Given the description of an element on the screen output the (x, y) to click on. 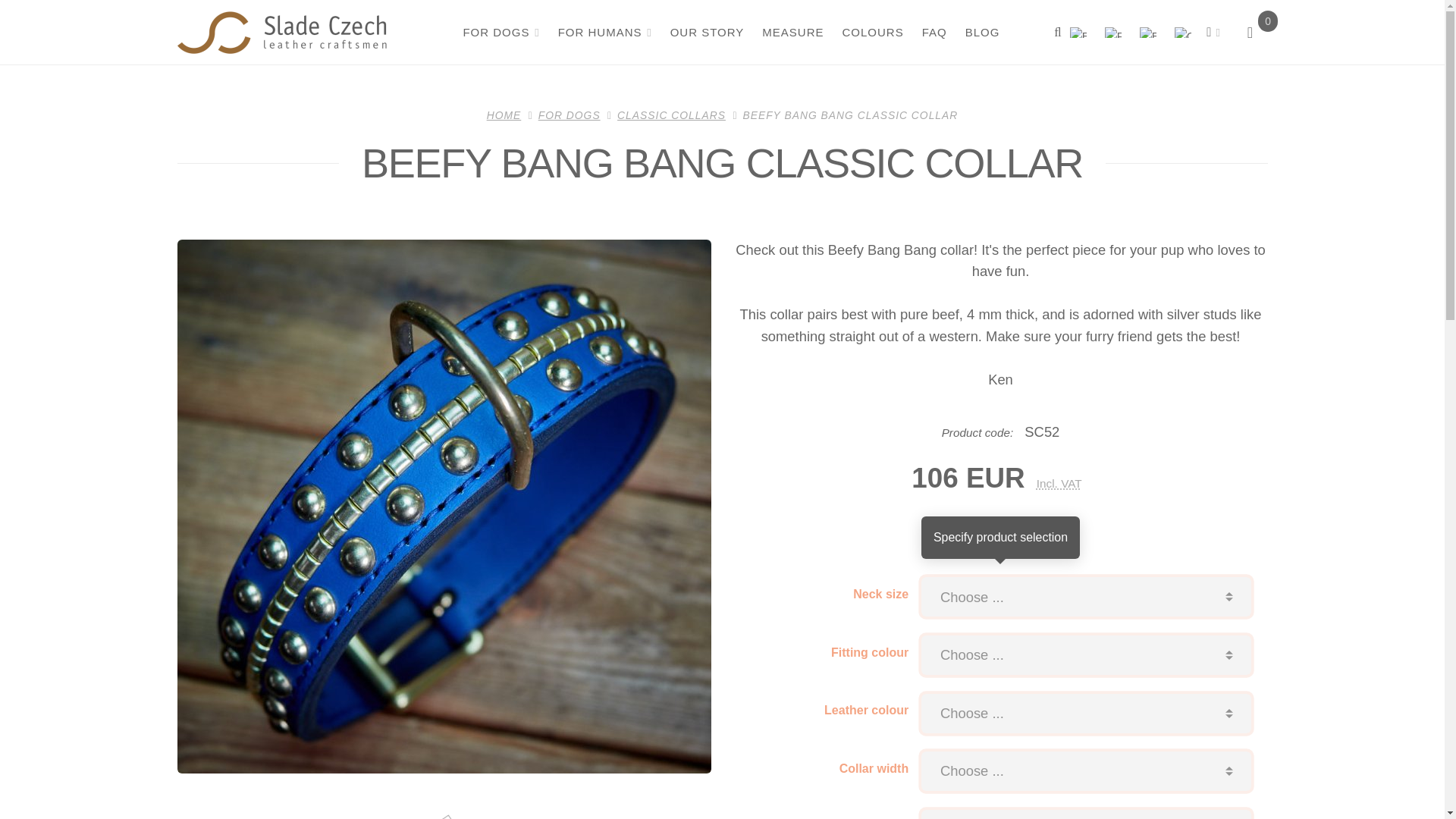
English (1078, 32)
COLOURS (871, 32)
MEASURE (791, 32)
FOR DOGS (499, 32)
Home (282, 32)
English (1146, 32)
English (1082, 32)
SEARCH (1056, 31)
French (1111, 32)
FAQ (933, 32)
